Given the description of an element on the screen output the (x, y) to click on. 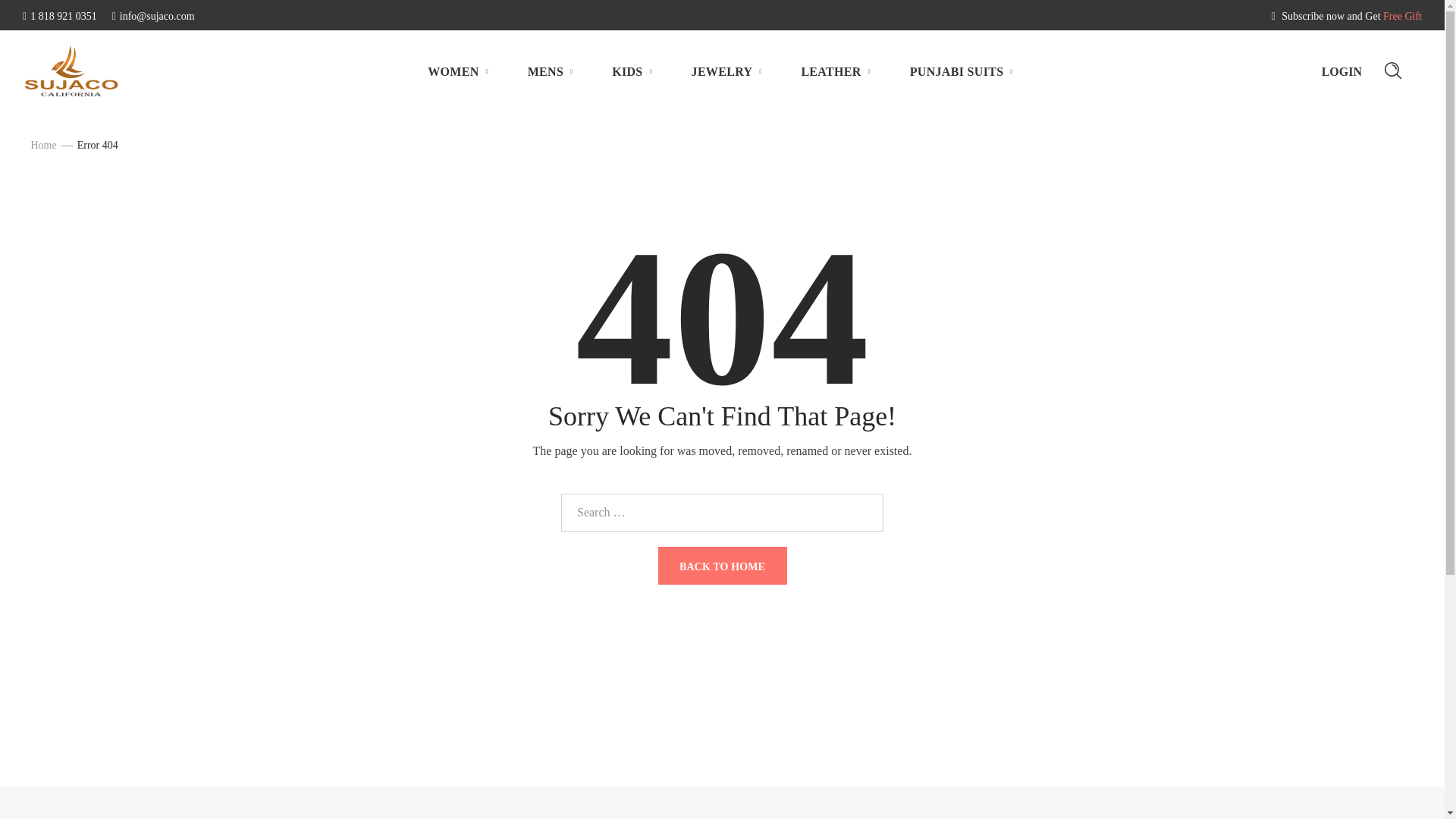
JEWELRY (727, 71)
1 818 921 0351 (60, 16)
WOMEN (458, 71)
KIDS (631, 71)
MENS (551, 71)
